Given the description of an element on the screen output the (x, y) to click on. 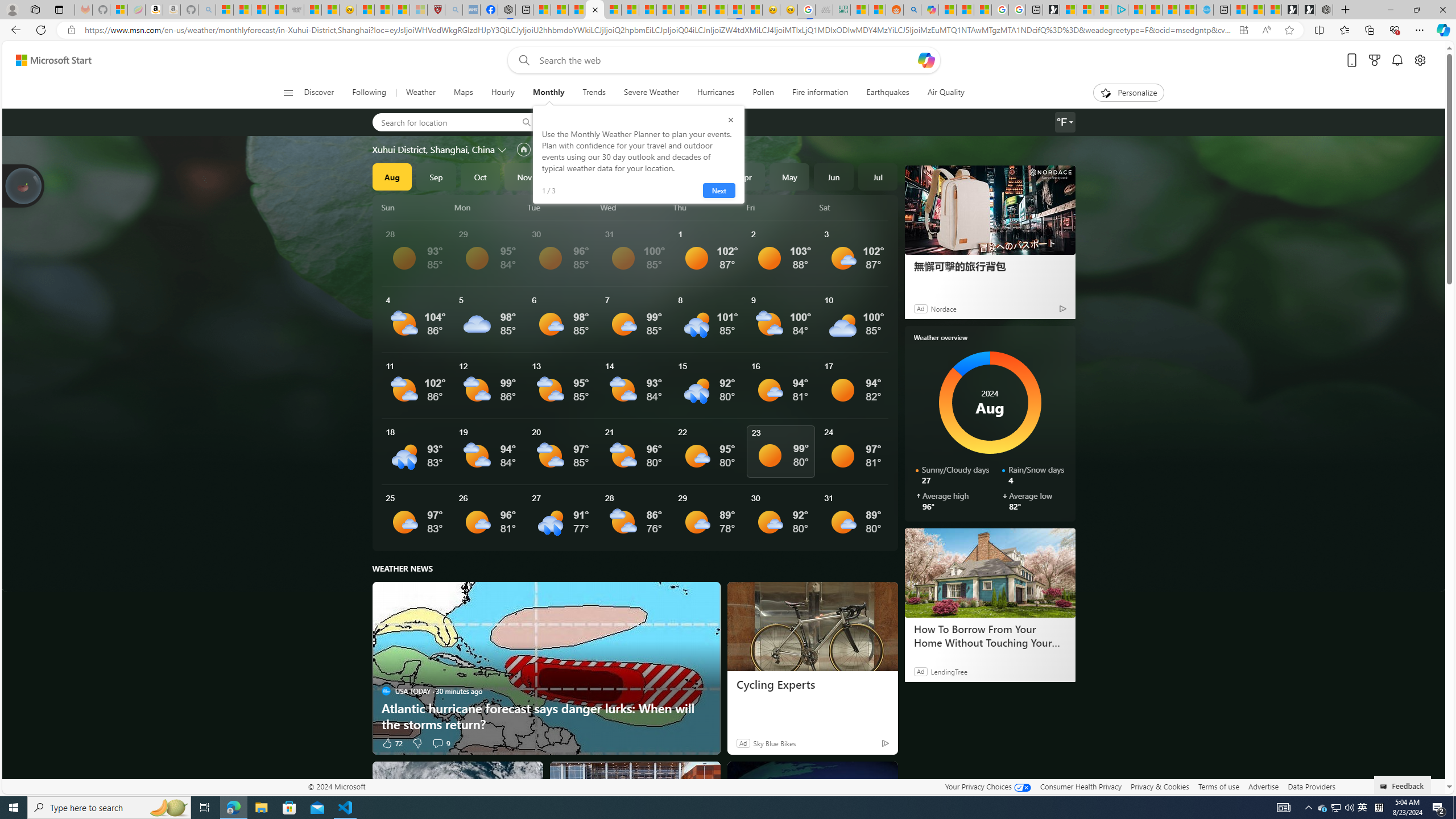
Wed (634, 207)
Remove location (653, 122)
Apr (745, 176)
Consumer Health Privacy (1080, 786)
Mar (700, 176)
Nov (523, 176)
